Given the description of an element on the screen output the (x, y) to click on. 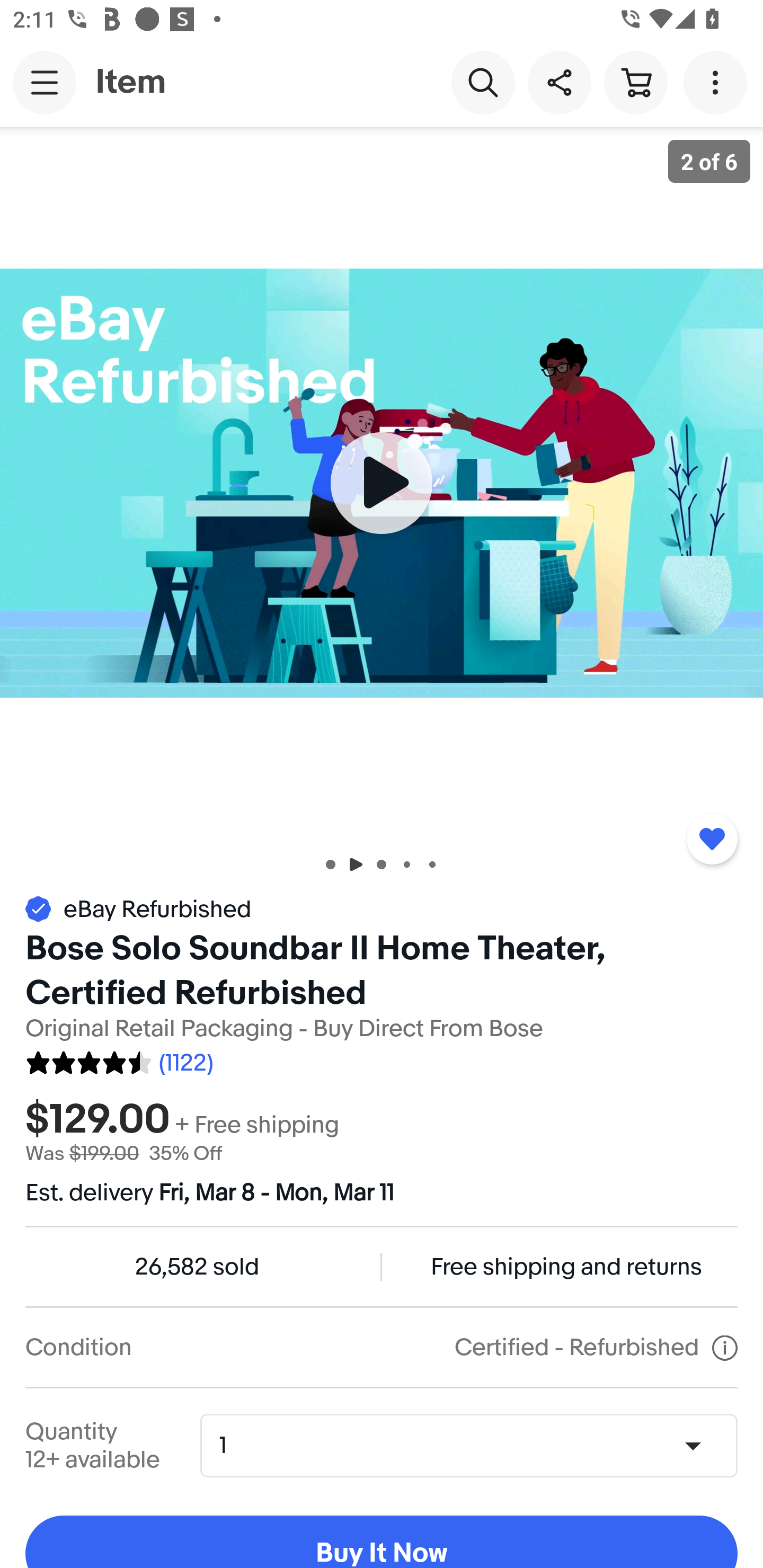
Main navigation, open (44, 82)
Search (482, 81)
Share this item (559, 81)
Cart button shopping cart (635, 81)
More options (718, 81)
Item image 2 of 6, plays video (381, 482)
Added to watchlist (711, 838)
Quantity,1,12+ available 1 (474, 1445)
Buy It Now (381, 1542)
